Given the description of an element on the screen output the (x, y) to click on. 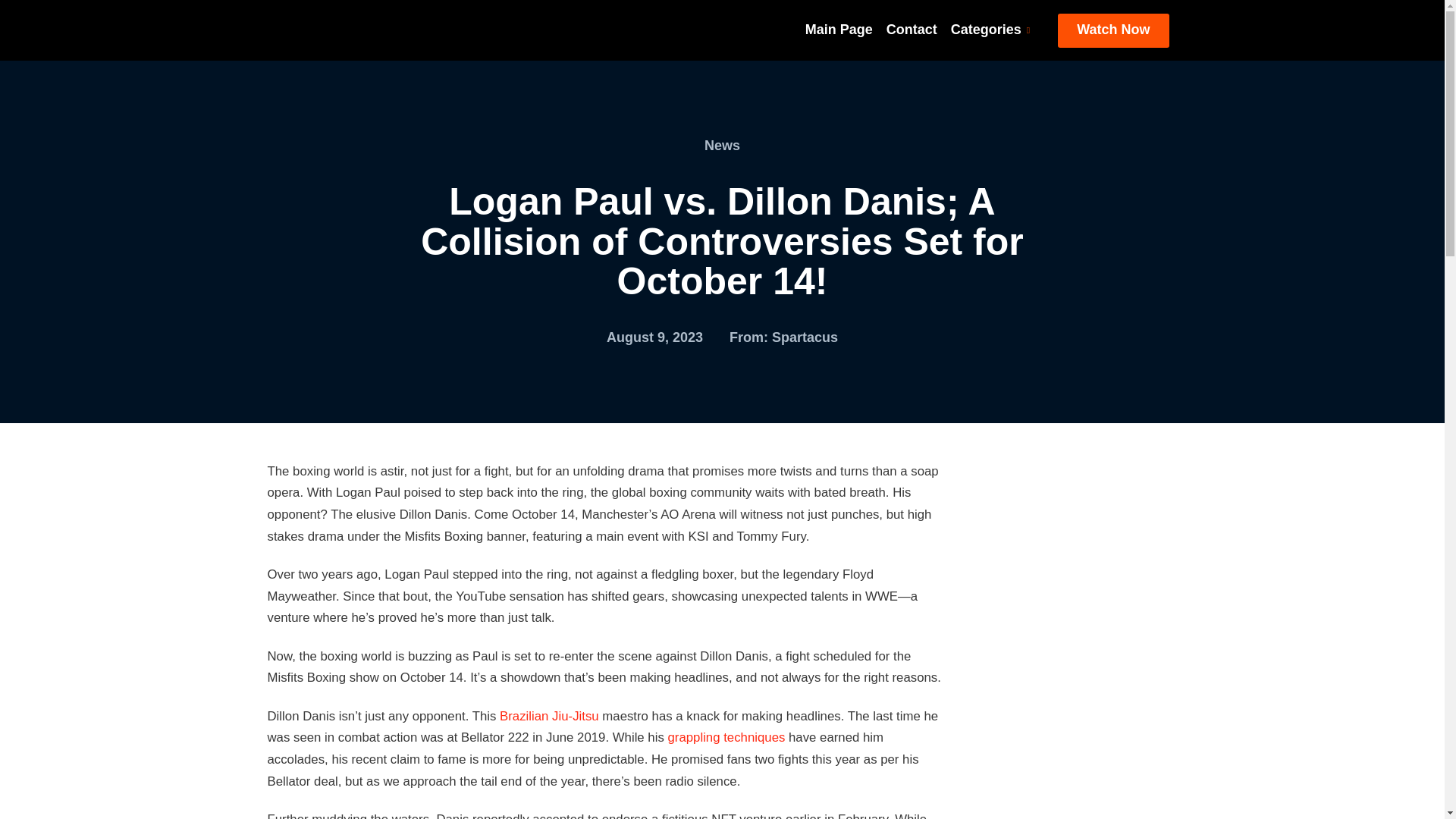
Contact (911, 29)
News (721, 145)
Watch Now (1113, 30)
Categories (989, 29)
Main Page (838, 29)
Brazilian Jiu-Jitsu (548, 716)
grappling techniques (725, 737)
